Given the description of an element on the screen output the (x, y) to click on. 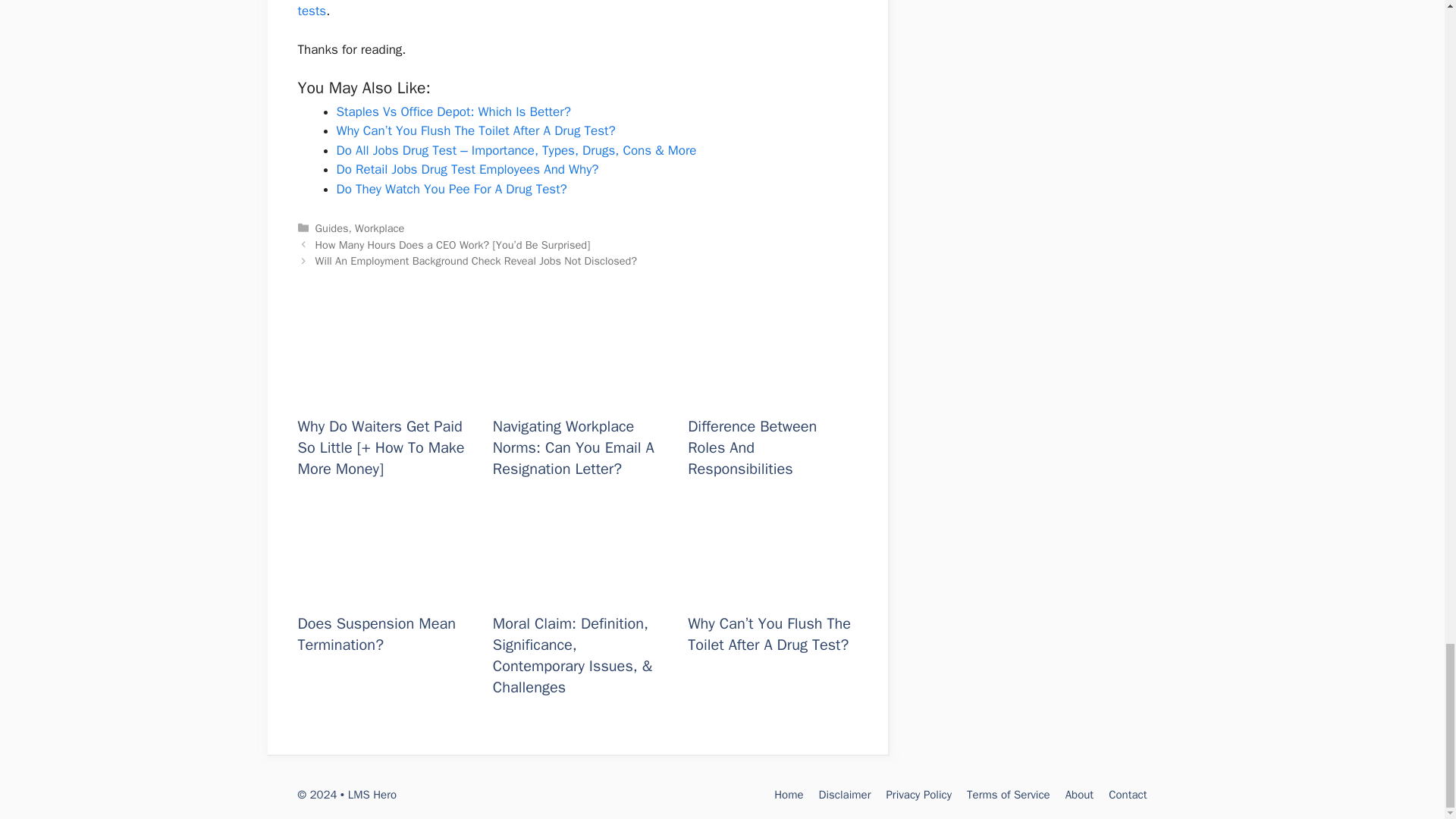
Difference Between Roles And Responsibilities (751, 447)
Do They Watch You Pee For A Drug Test? (451, 188)
Do Retail Jobs Drug Test Employees And Why? (467, 169)
Staples Vs Office Depot: Which Is Better? (453, 111)
Guides (332, 228)
other job fields that conduct drug tests (564, 9)
Do Retail Jobs Drug Test Employees And Why? (467, 169)
Does Suspension Mean Termination? (376, 634)
Staples Vs Office Depot: Which Is Better? (453, 111)
